Given the description of an element on the screen output the (x, y) to click on. 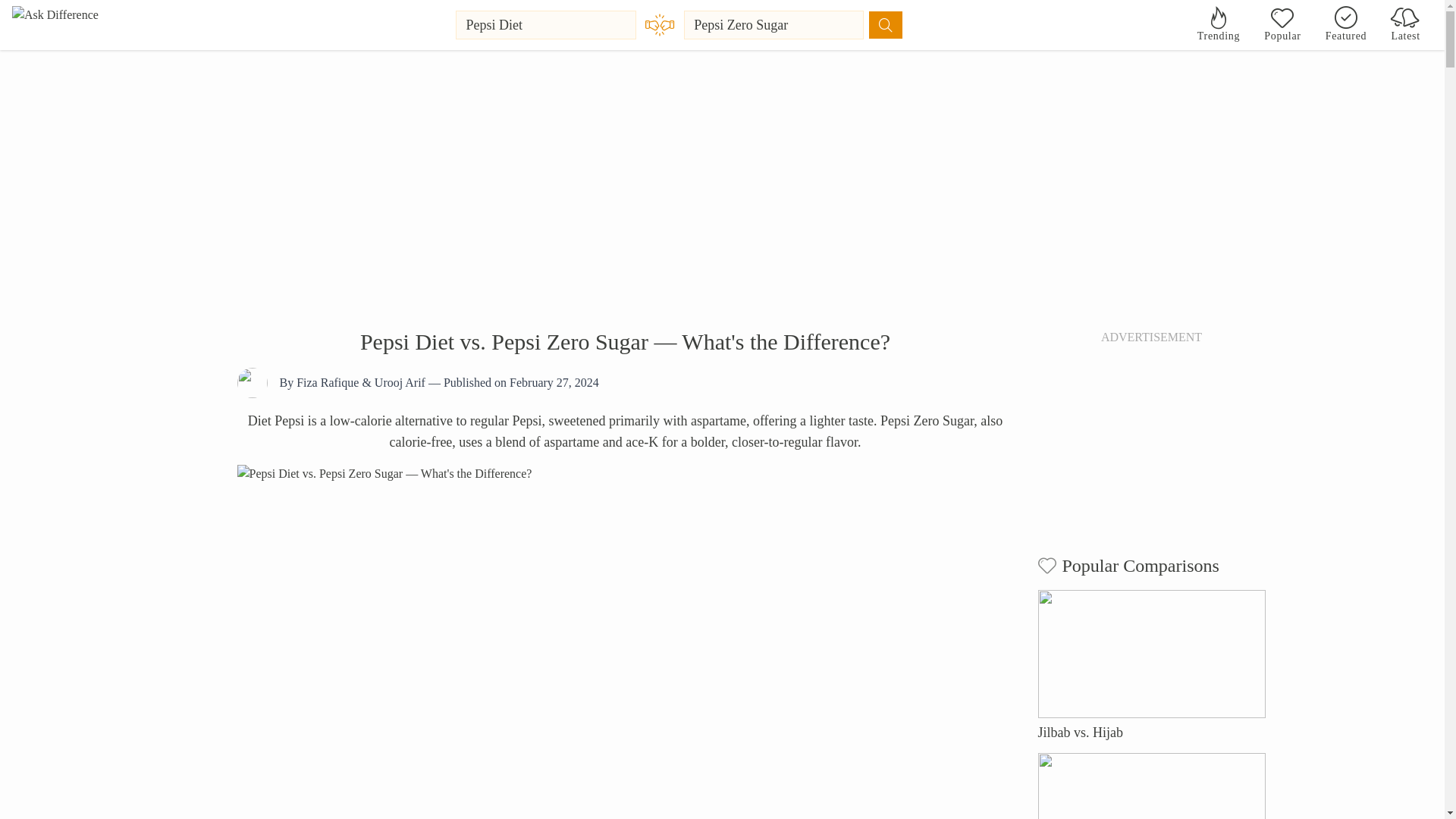
Latest (1405, 24)
Trending (1218, 24)
Popular (1282, 24)
Featured (1345, 24)
Urooj Arif (399, 382)
Pepsi Zero Sugar (773, 24)
Fiza Rafique (327, 382)
Pepsi Diet (545, 24)
